Given the description of an element on the screen output the (x, y) to click on. 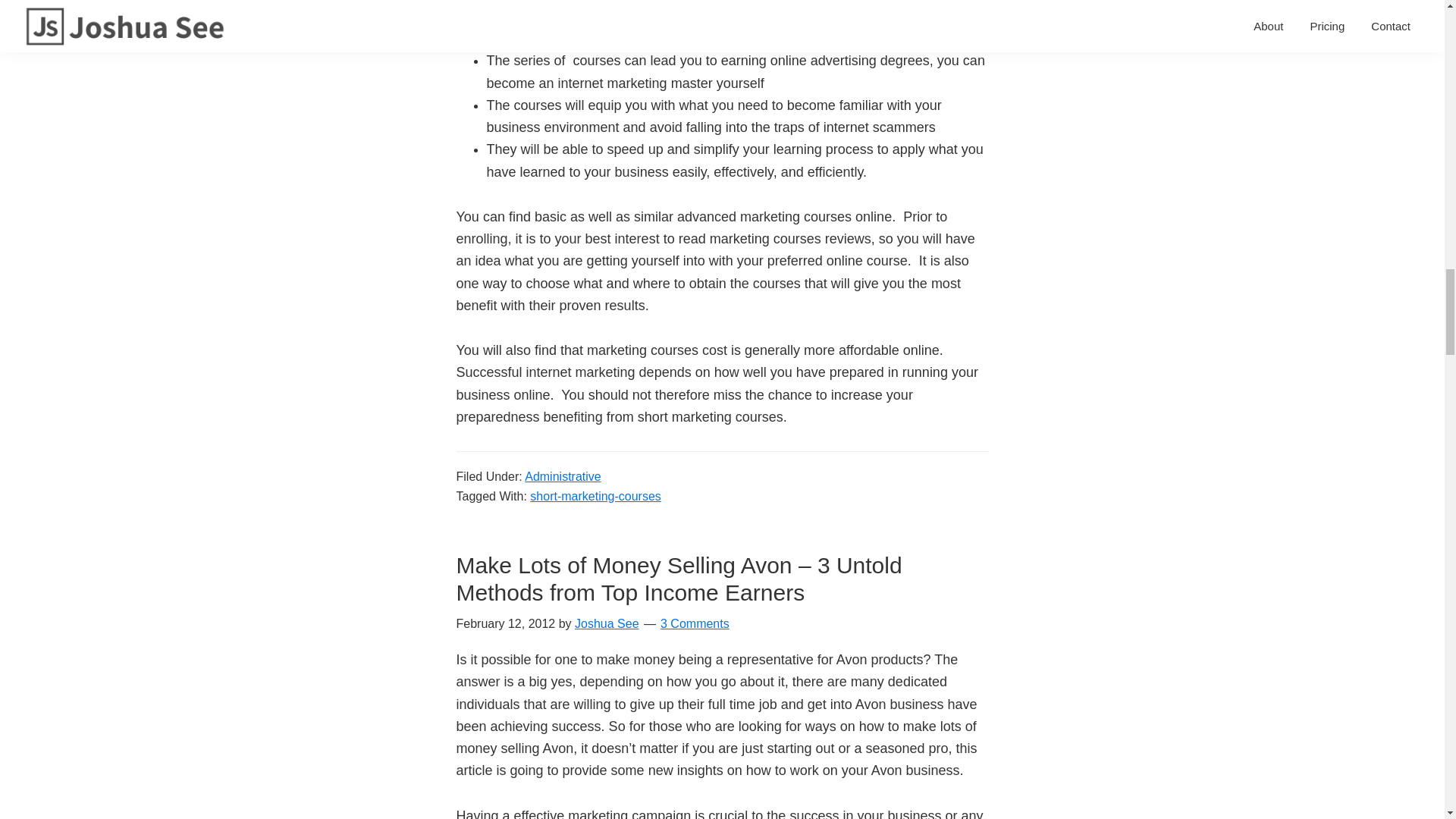
short-marketing-courses (595, 495)
3 Comments (695, 623)
Administrative (561, 476)
Joshua See (607, 623)
